Given the description of an element on the screen output the (x, y) to click on. 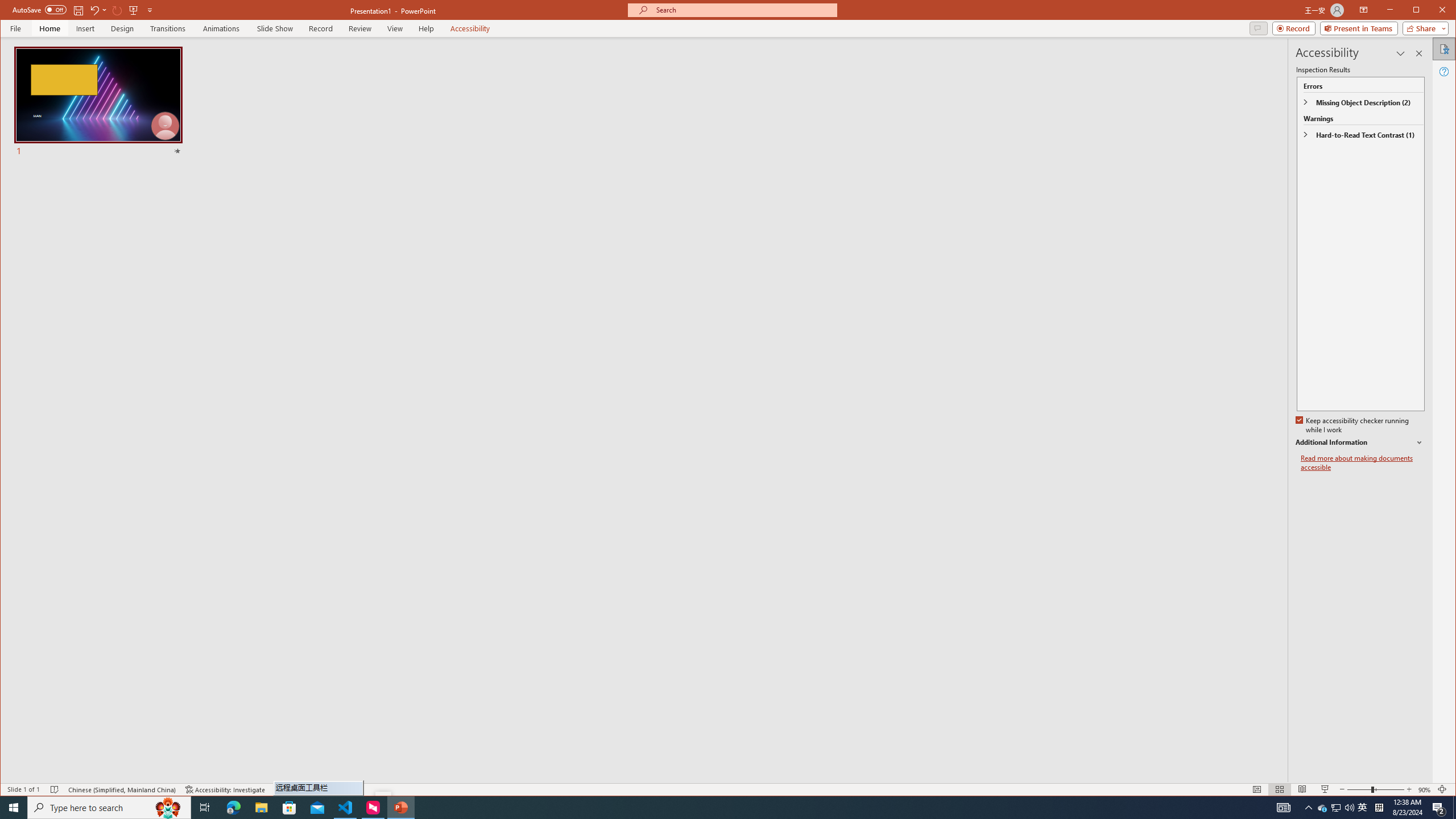
Additional Information (1360, 442)
Microsoft Edge (233, 807)
